Given the description of an element on the screen output the (x, y) to click on. 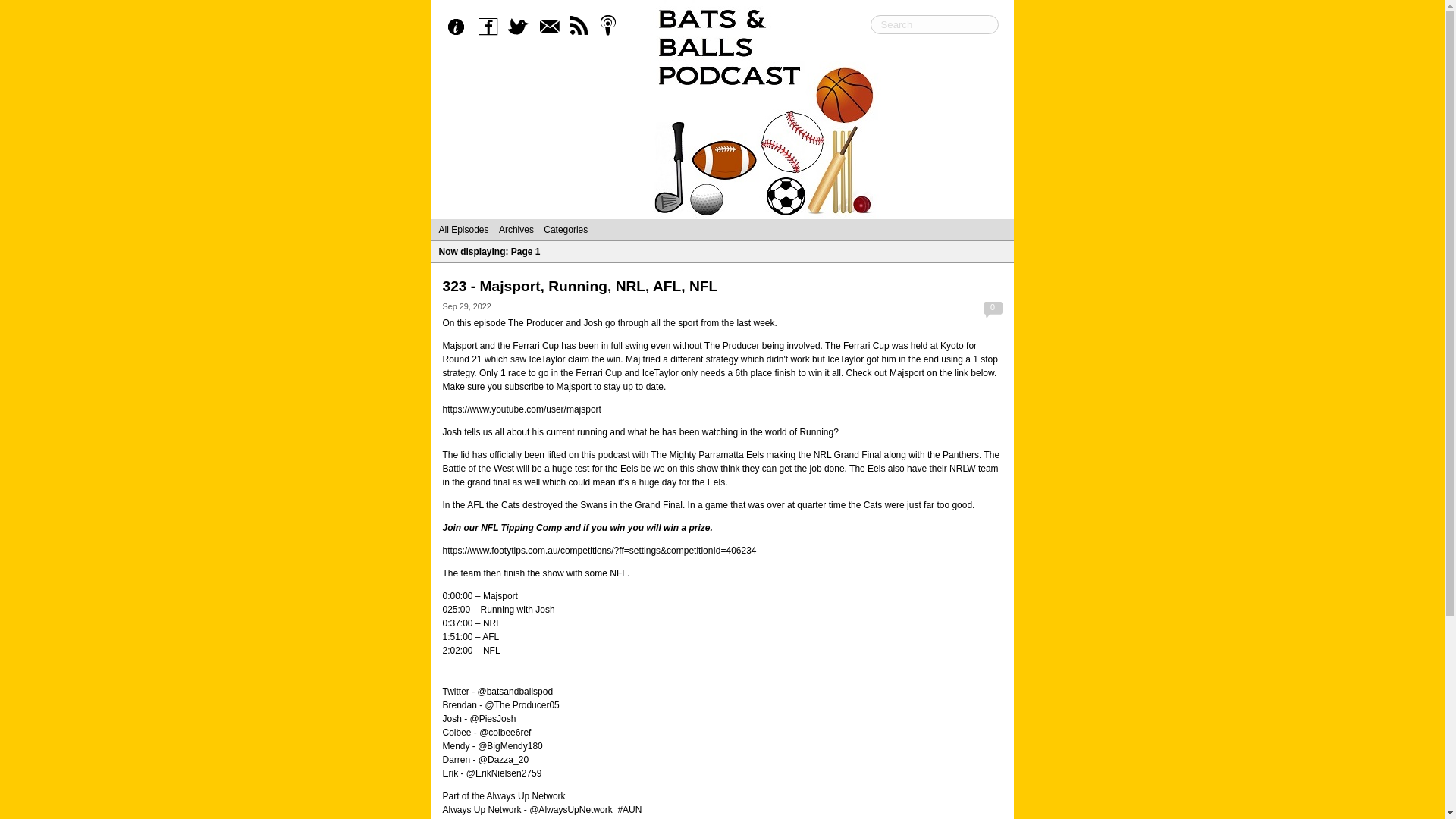
RSS Feed (581, 26)
Facebook (491, 26)
Subscribe in Apple Podcasts (611, 26)
Email (552, 26)
Twitter (521, 26)
